Given the description of an element on the screen output the (x, y) to click on. 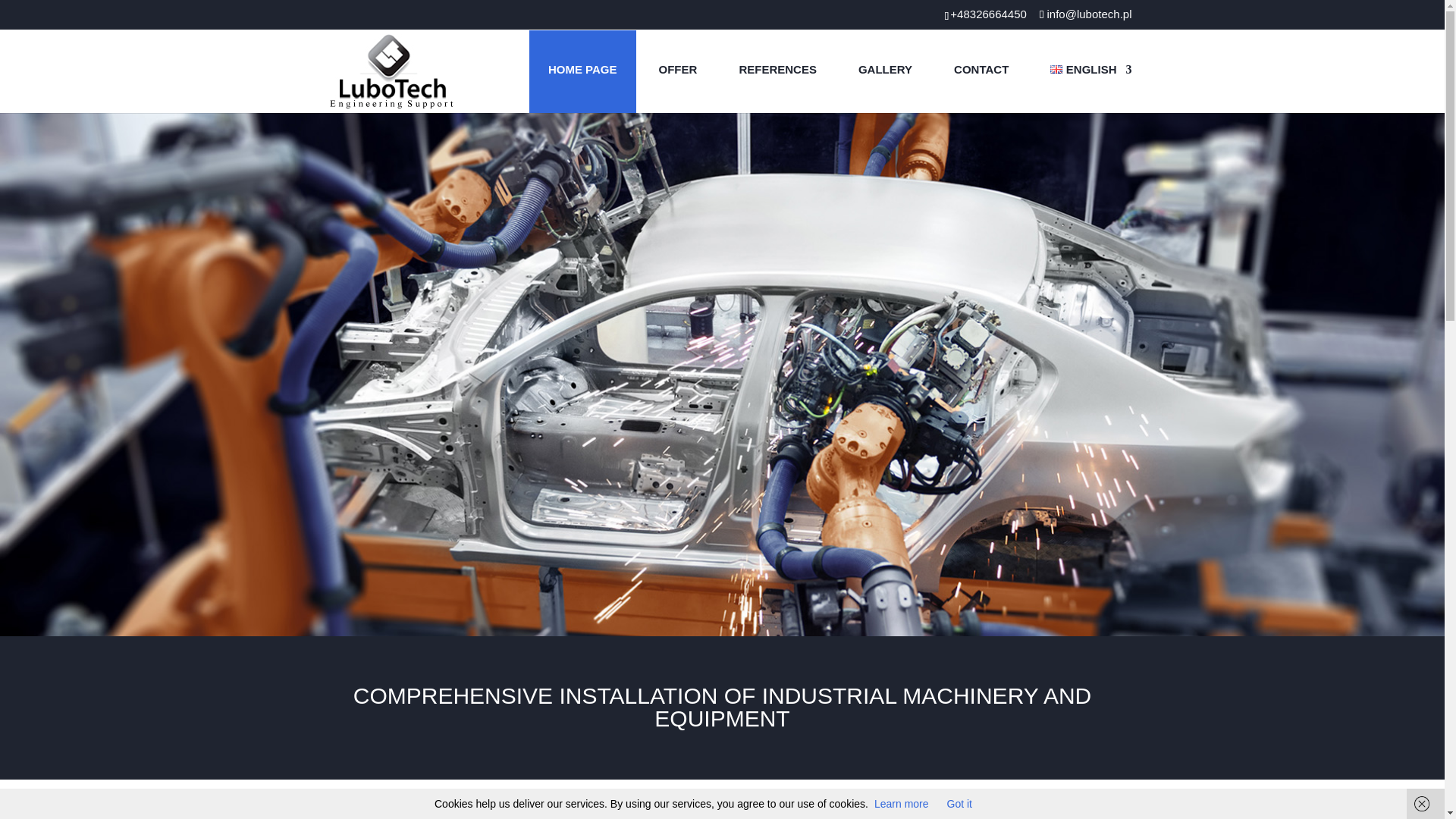
REFERENCES (777, 71)
CONTACT (980, 71)
Learn more (901, 803)
ENGLISH (1080, 71)
OFFER (678, 71)
GALLERY (885, 71)
HOME PAGE (582, 71)
Got it (959, 803)
